Given the description of an element on the screen output the (x, y) to click on. 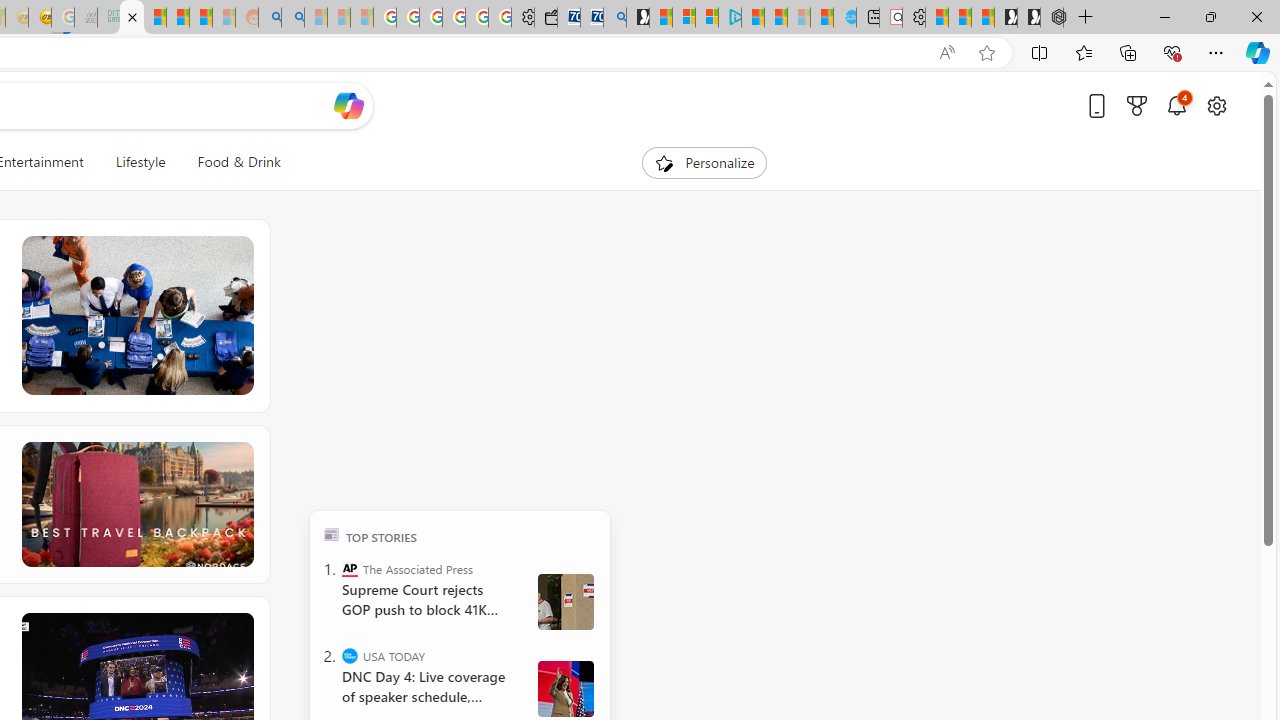
TOP (331, 534)
Bing Real Estate - Home sales and rental listings (614, 17)
The Associated Press (349, 568)
